Given the description of an element on the screen output the (x, y) to click on. 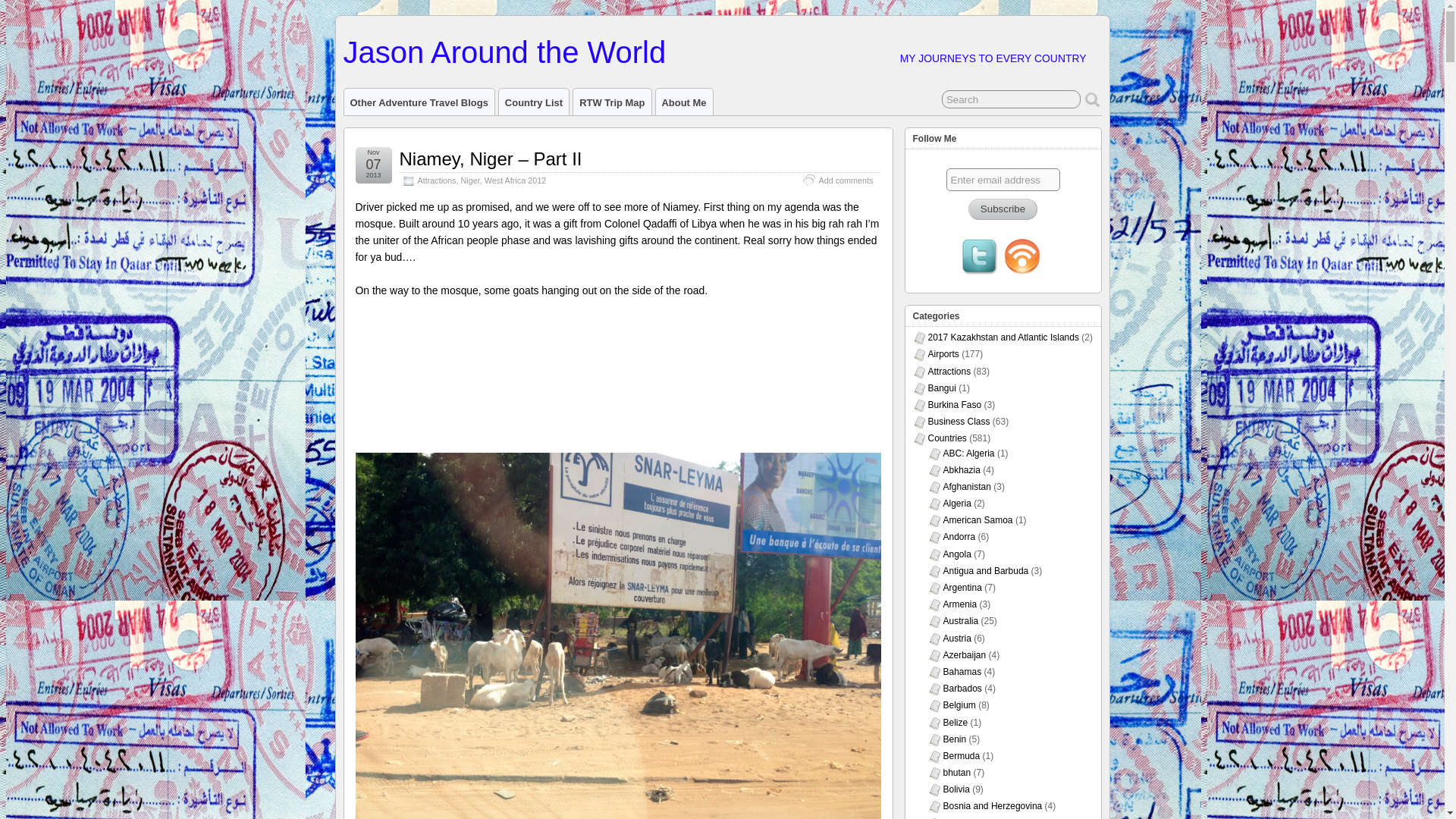
RTW Trip Map (611, 101)
About Me (683, 101)
Add comments (845, 180)
Attractions (435, 180)
Jason Around the World (503, 52)
RSS (1022, 258)
Niger (470, 180)
Twitter (978, 258)
Search (1011, 99)
Enter email address (1002, 179)
Advertisement (617, 380)
Subscribe (1002, 209)
Country List (534, 101)
Search (1011, 99)
West Africa 2012 (515, 180)
